Given the description of an element on the screen output the (x, y) to click on. 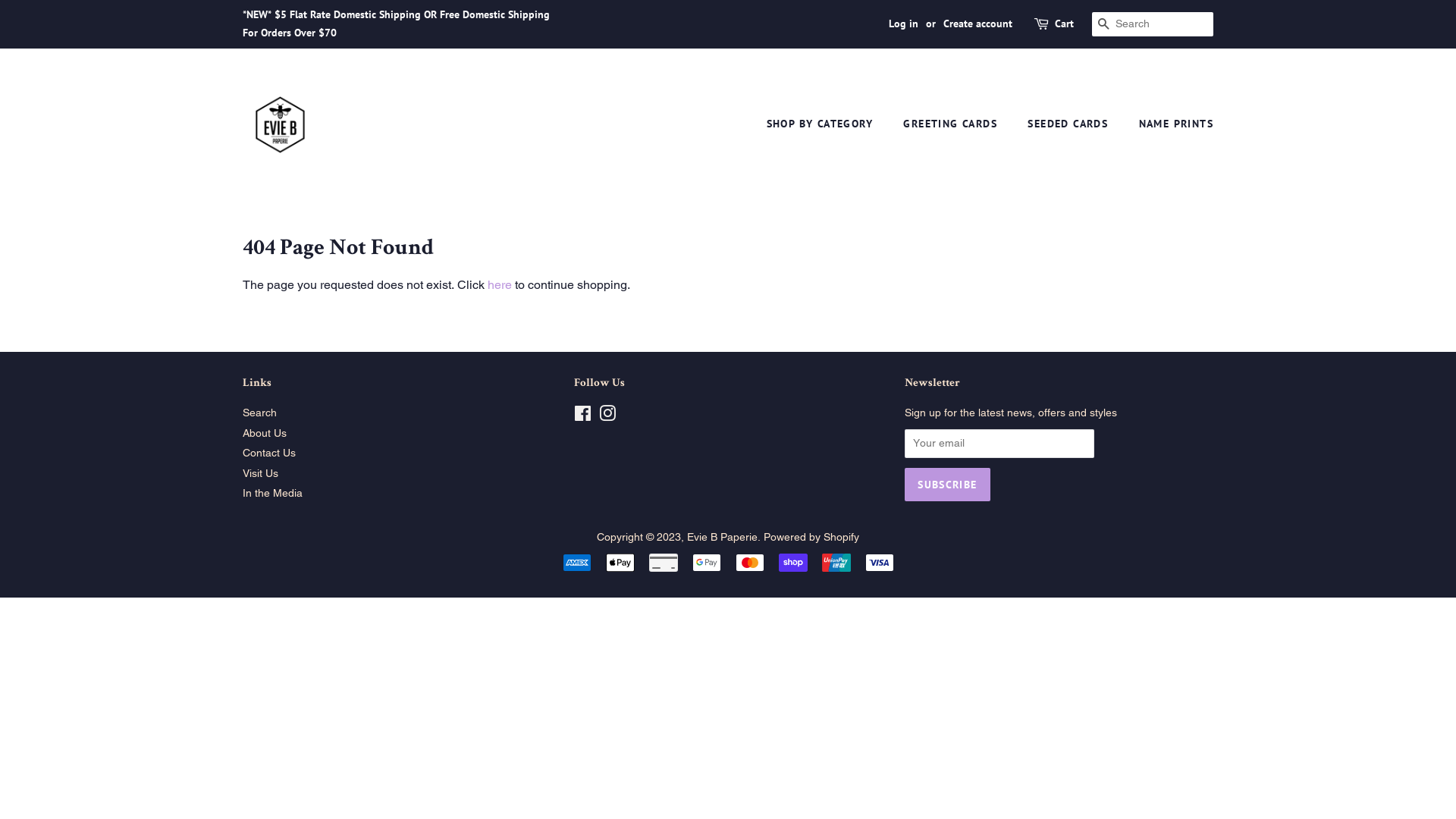
Cart Element type: text (1063, 24)
About Us Element type: text (264, 432)
Contact Us Element type: text (268, 452)
GREETING CARDS Element type: text (951, 123)
Instagram Element type: text (607, 416)
here Element type: text (499, 284)
Log in Element type: text (903, 23)
Create account Element type: text (977, 23)
Subscribe Element type: text (946, 484)
SEEDED CARDS Element type: text (1069, 123)
SHOP BY CATEGORY Element type: text (827, 123)
In the Media Element type: text (272, 492)
Visit Us Element type: text (260, 473)
SEARCH Element type: text (1104, 24)
Search Element type: text (259, 412)
Facebook Element type: text (582, 416)
Powered by Shopify Element type: text (811, 536)
Evie B Paperie Element type: text (722, 536)
NAME PRINTS Element type: text (1170, 123)
